Given the description of an element on the screen output the (x, y) to click on. 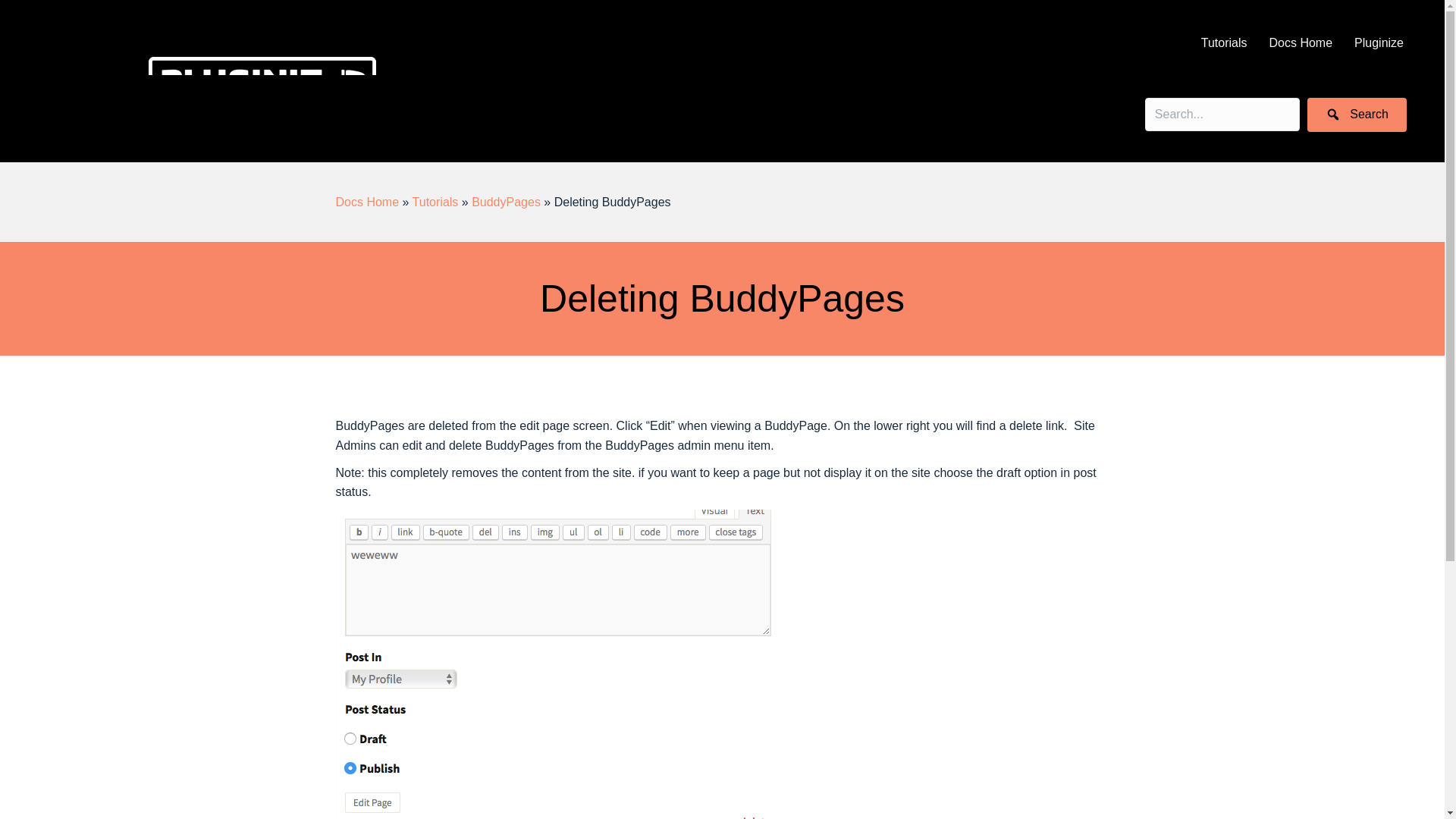
Docs Home (366, 201)
Search (1356, 114)
pluginize-logo-hs (261, 82)
Tutorials (1224, 42)
Docs Home (1299, 42)
Tutorials (435, 201)
BuddyPages (505, 201)
Pluginize (1378, 42)
